Given the description of an element on the screen output the (x, y) to click on. 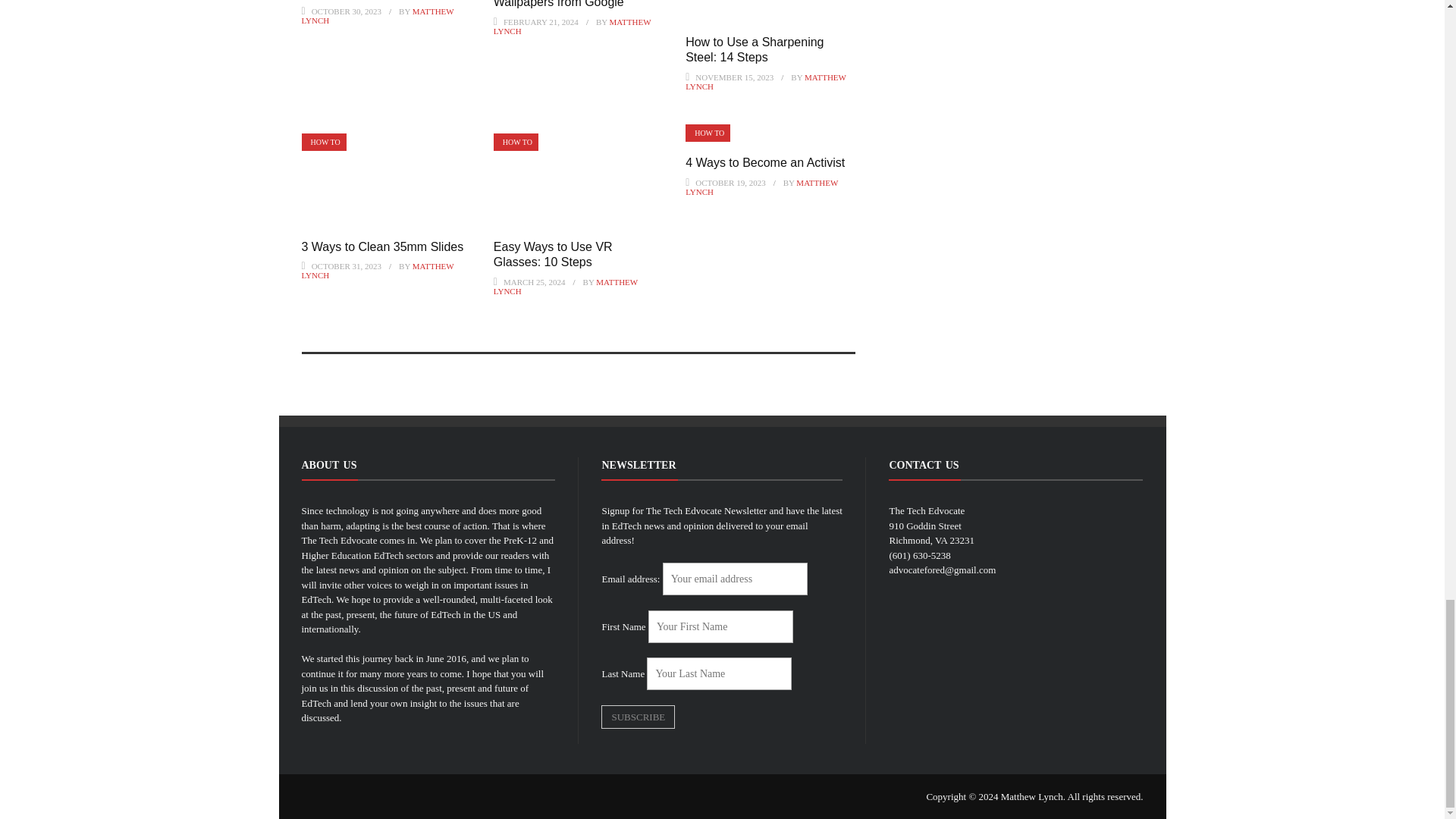
Subscribe (638, 717)
